Given the description of an element on the screen output the (x, y) to click on. 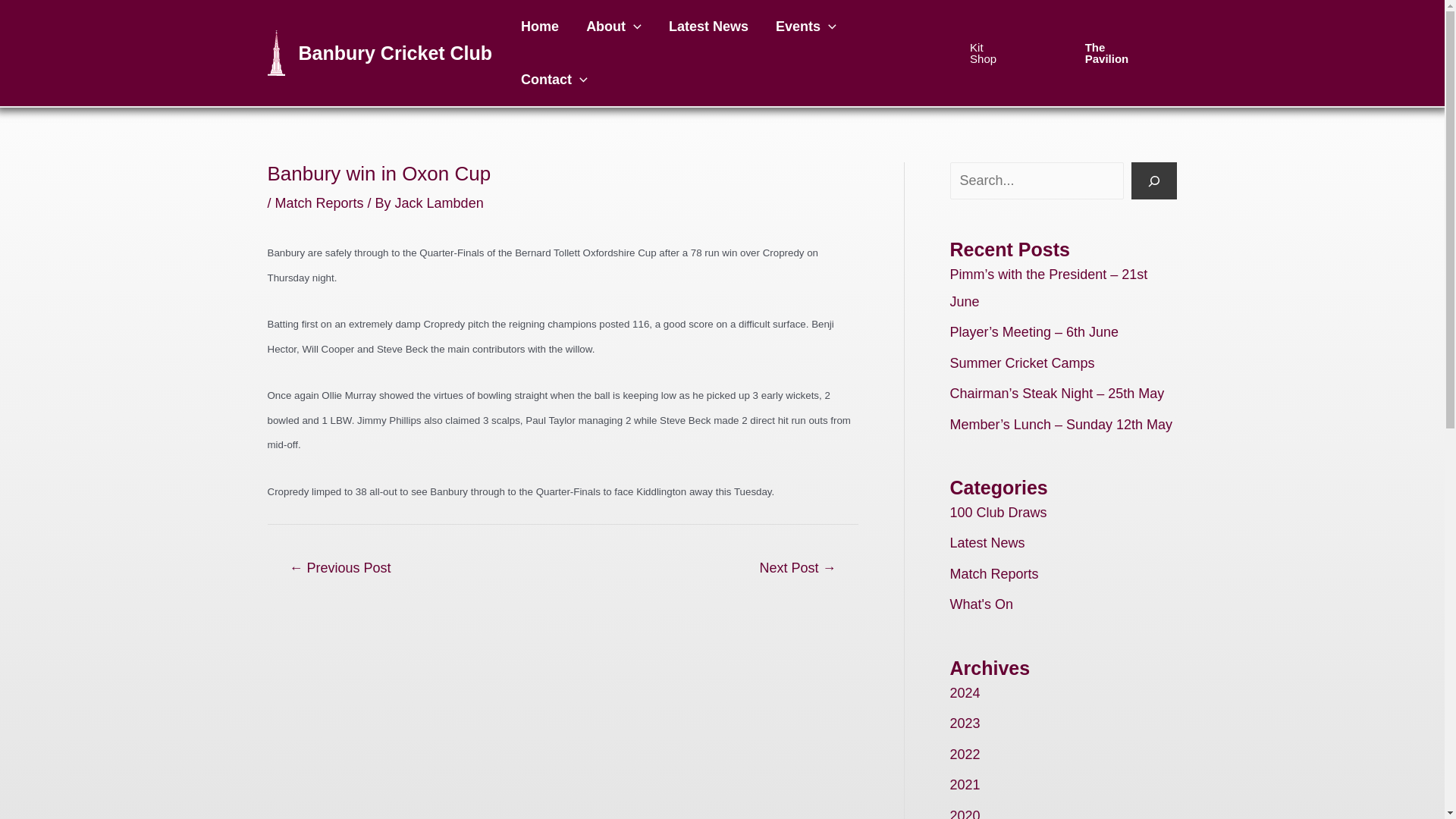
The Pavilion (1115, 52)
About (613, 26)
Thirds draw in a Damp Squid of a game (797, 569)
Latest News (708, 26)
Events (805, 26)
Home (539, 26)
Contact (553, 79)
U13s Win Semi Final (338, 569)
View all posts by Jack Lambden (438, 202)
Kit Shop (989, 53)
Banbury Cricket Club (395, 52)
